Given the description of an element on the screen output the (x, y) to click on. 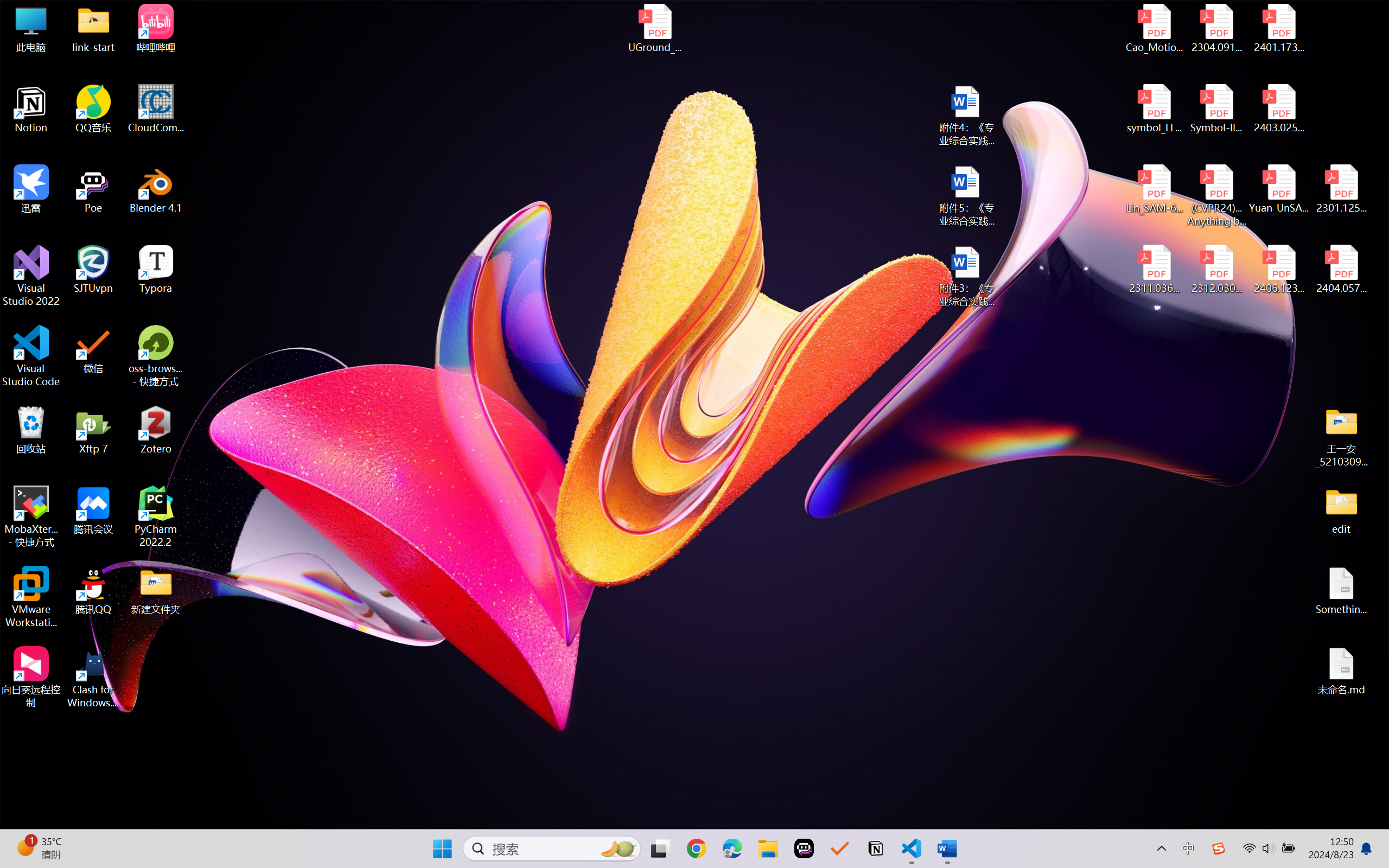
VMware Workstation Pro (31, 597)
PyCharm 2022.2 (156, 516)
symbol_LLM.pdf (1154, 109)
2403.02502v1.pdf (1278, 109)
UGround_paper.pdf (654, 28)
